Given the description of an element on the screen output the (x, y) to click on. 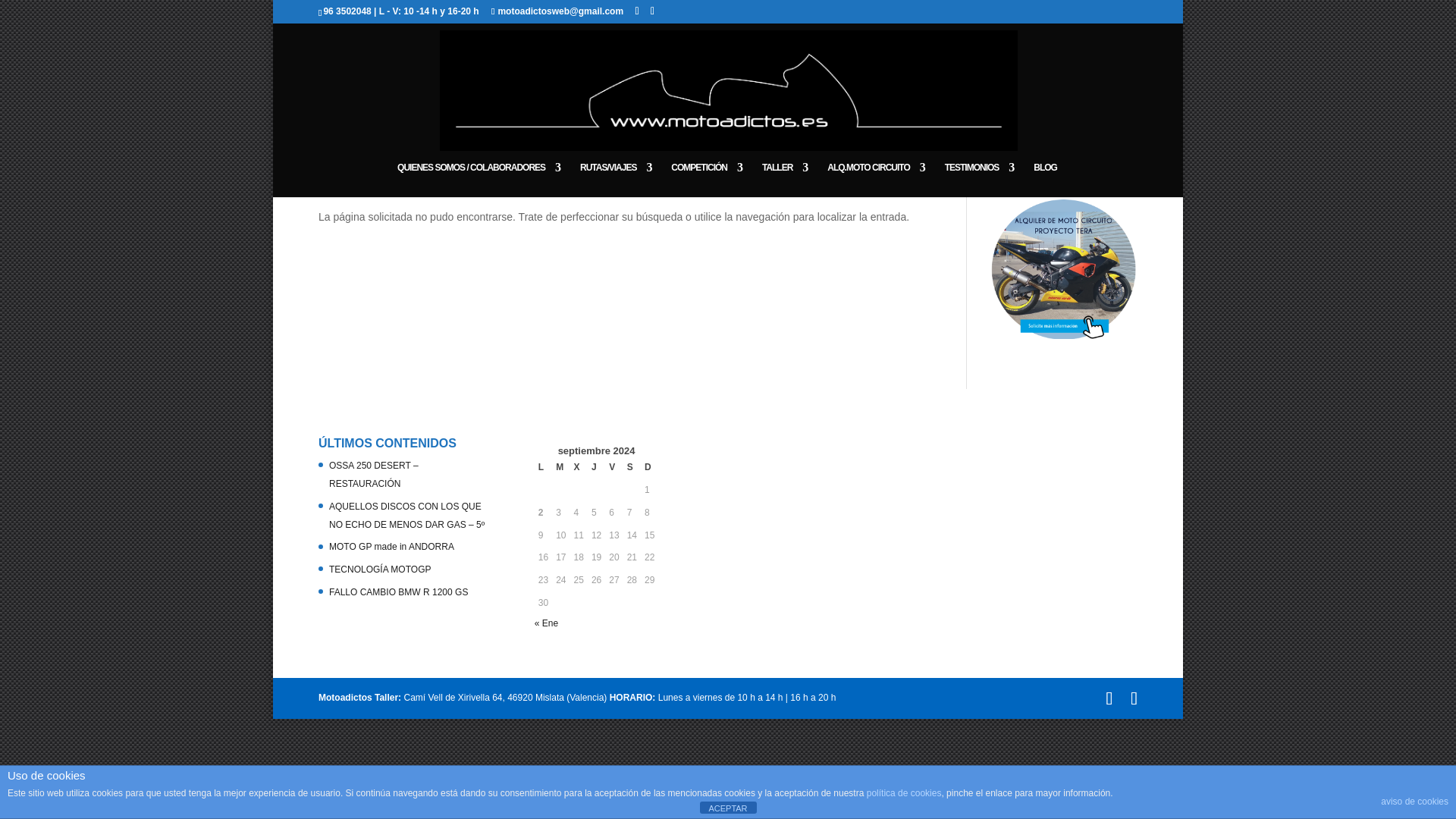
advertisement (1063, 269)
TALLER (784, 179)
ALQ.MOTO CIRCUITO (875, 179)
fb:page Facebook Social Plugin (836, 518)
TESTIMONIOS (979, 179)
